Given the description of an element on the screen output the (x, y) to click on. 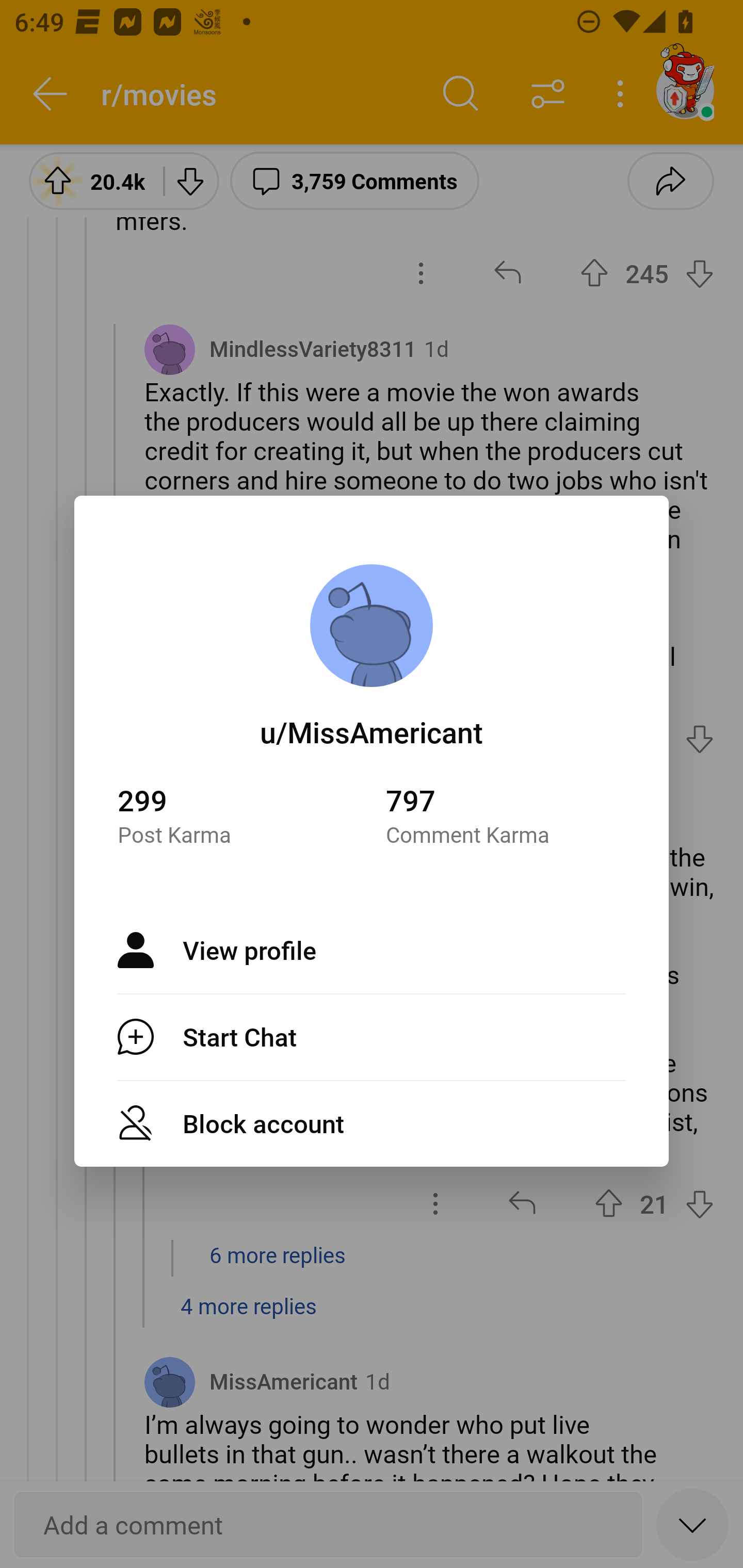
u/MissAmericant (371, 731)
View profile (371, 950)
Start Chat (371, 1037)
Block account (371, 1123)
